Given the description of an element on the screen output the (x, y) to click on. 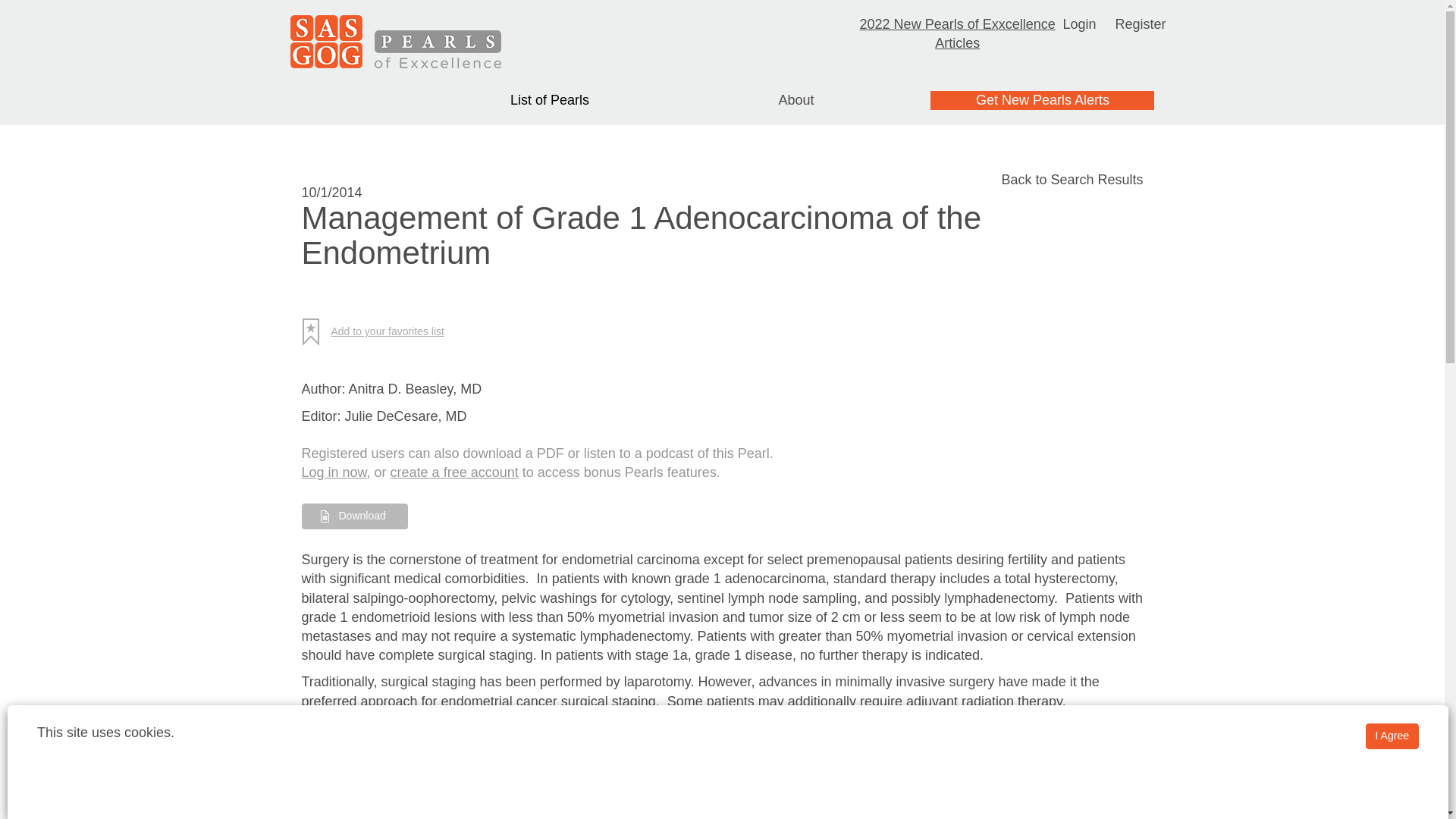
Register (1140, 23)
Log in now (333, 472)
Download (354, 516)
I Agree (1391, 736)
2022 New Pearls of Exxcellence Articles (957, 33)
create a free account (454, 472)
Add to your favorites list (377, 331)
Login (1079, 23)
Get New Pearls Alerts (1042, 99)
List of Pearls (550, 99)
About (795, 99)
Back to Search Results (1071, 179)
Login to Your Account (1079, 23)
